Given the description of an element on the screen output the (x, y) to click on. 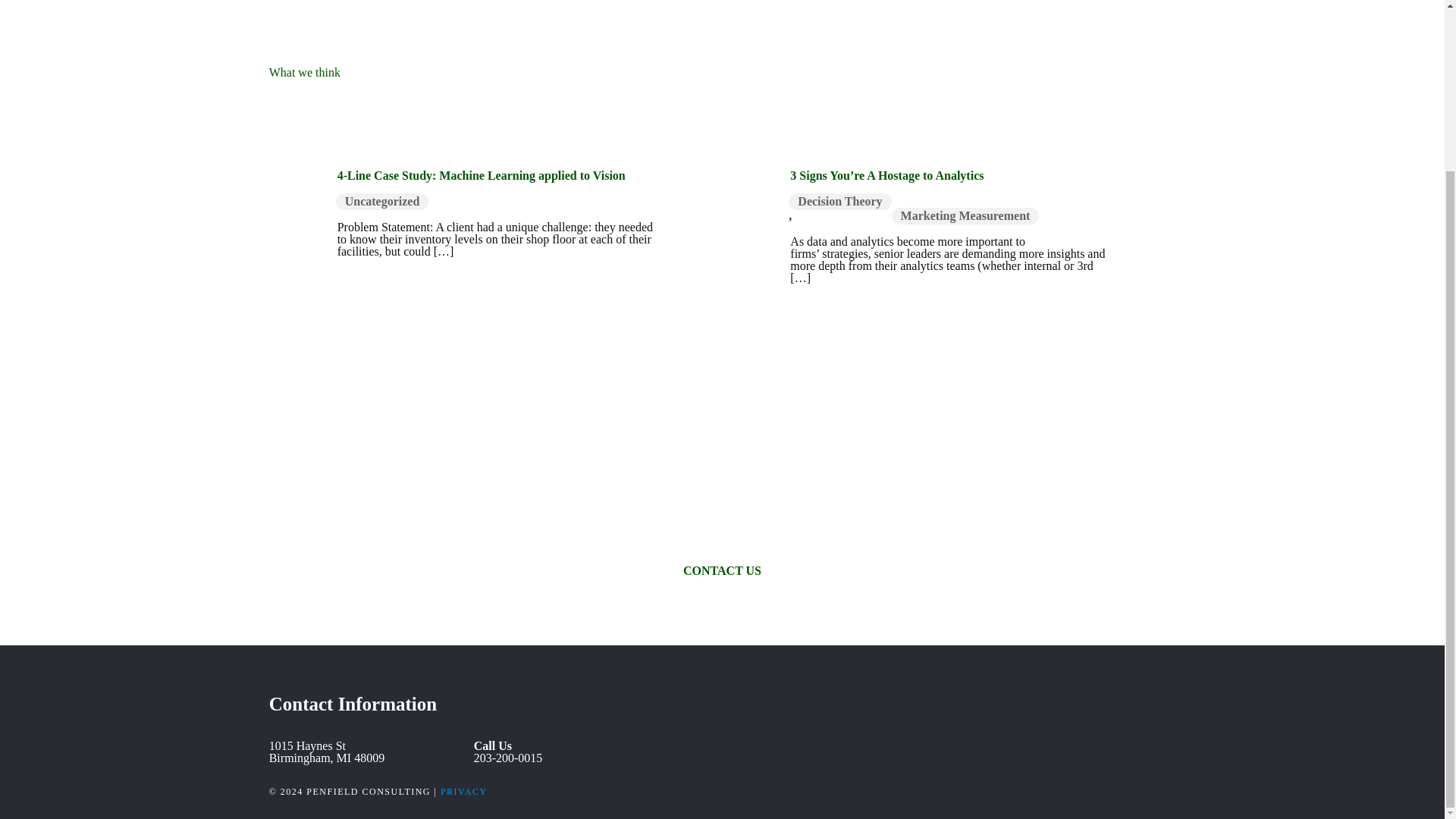
PRIVACY (464, 791)
Decision Theory (840, 201)
Marketing Measurement (965, 216)
Uncategorized (382, 201)
4-Line Case Study: Machine Learning applied to Vision (481, 174)
CONTACT US (722, 570)
